Given the description of an element on the screen output the (x, y) to click on. 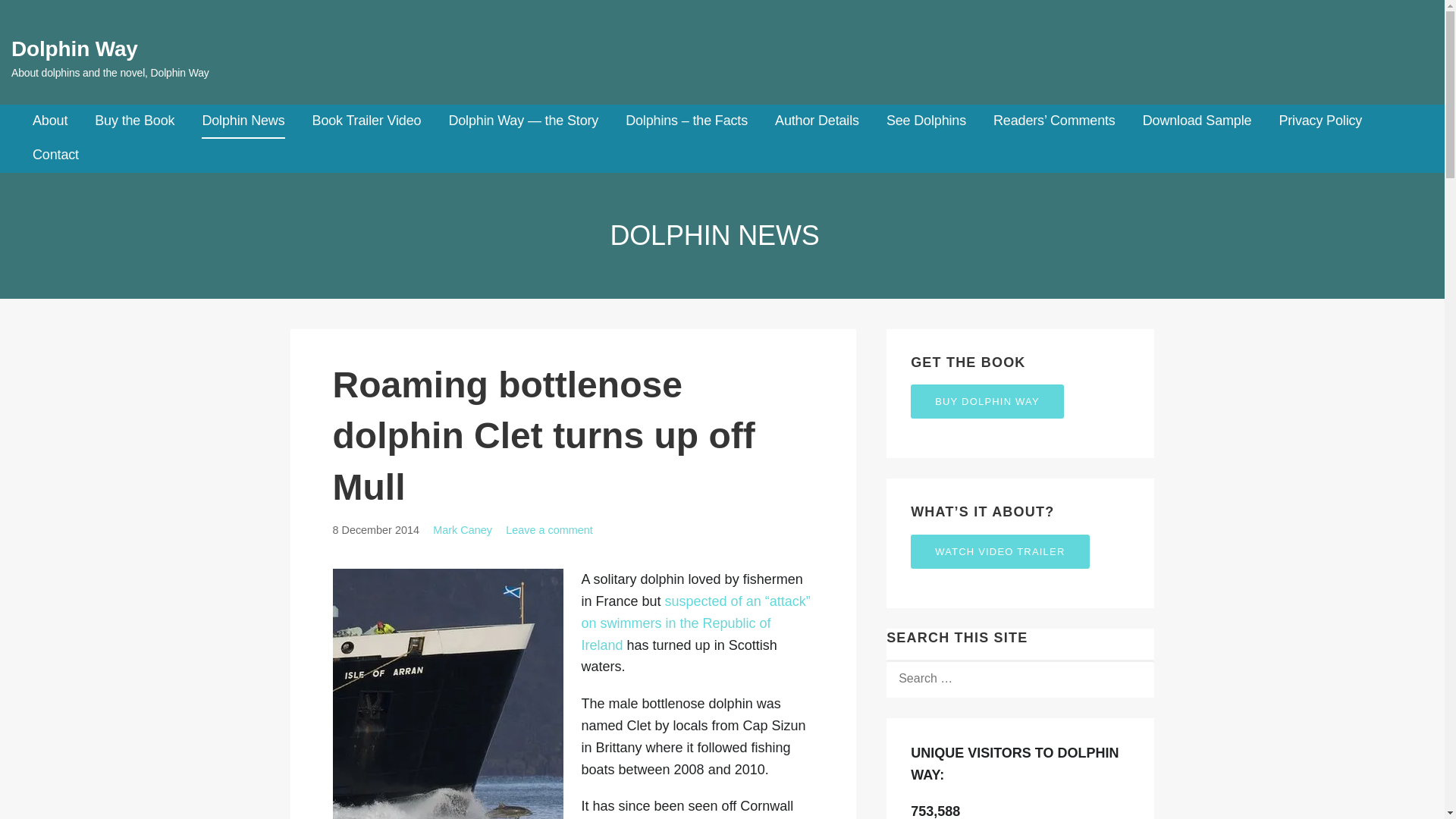
Dolphin News (242, 121)
Buy the Book (134, 121)
Privacy Policy (1319, 121)
Author Details (816, 121)
See Dolphins (926, 121)
About (49, 121)
Posts by Mark Caney (462, 530)
Link to BBC story (694, 622)
Dolphin Way (74, 48)
Download Sample (1197, 121)
Book Trailer Video (367, 121)
Contact (55, 155)
